Given the description of an element on the screen output the (x, y) to click on. 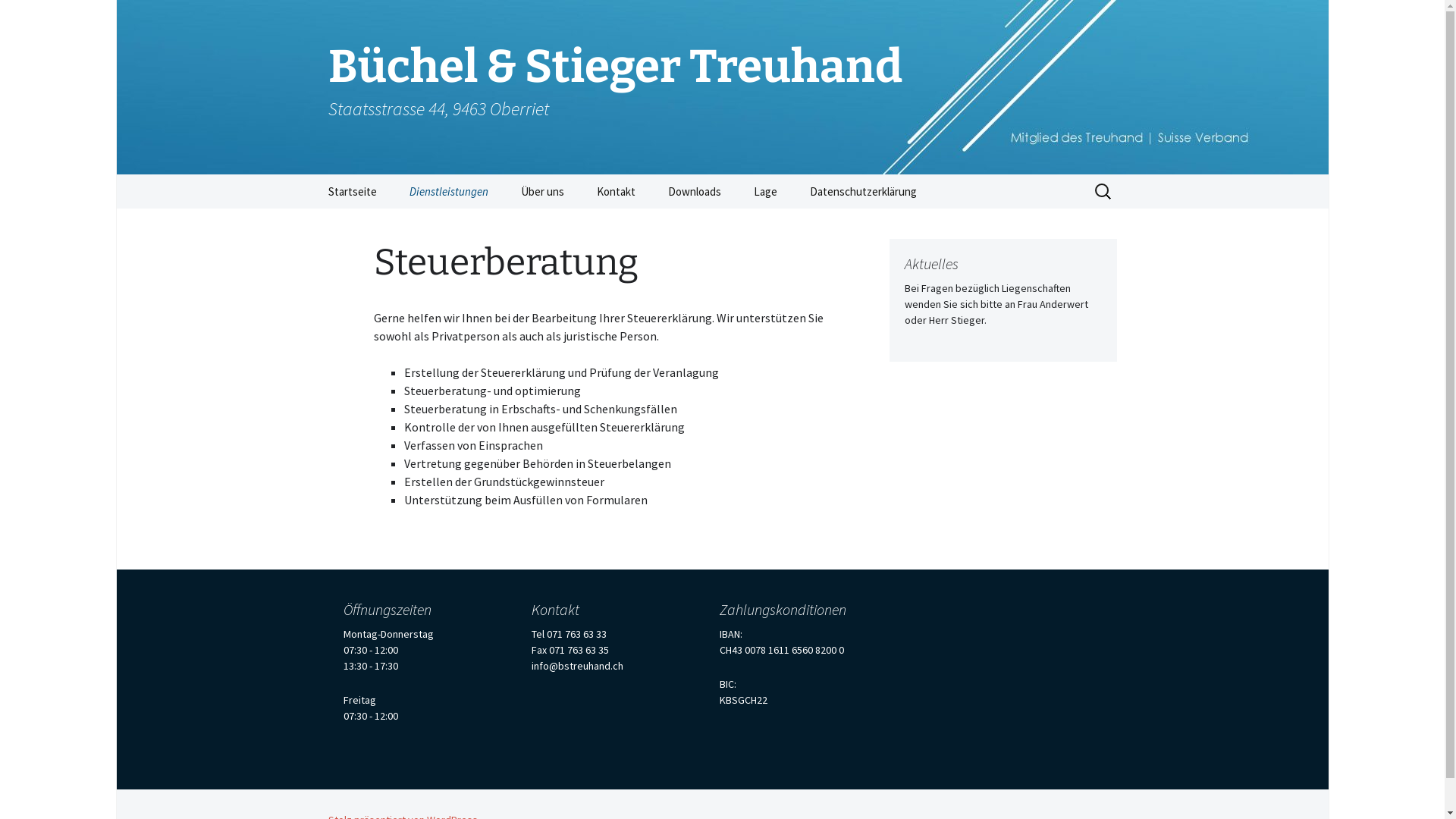
Lage Element type: text (765, 191)
Startseite Element type: text (351, 191)
Steuerberatung Element type: text (470, 225)
Zum Inhalt springen Element type: text (312, 173)
Downloads Element type: text (693, 191)
Kontakt Element type: text (614, 191)
Dienstleistungen Element type: text (448, 191)
Suche Element type: text (18, 16)
Team Element type: text (580, 225)
